Given the description of an element on the screen output the (x, y) to click on. 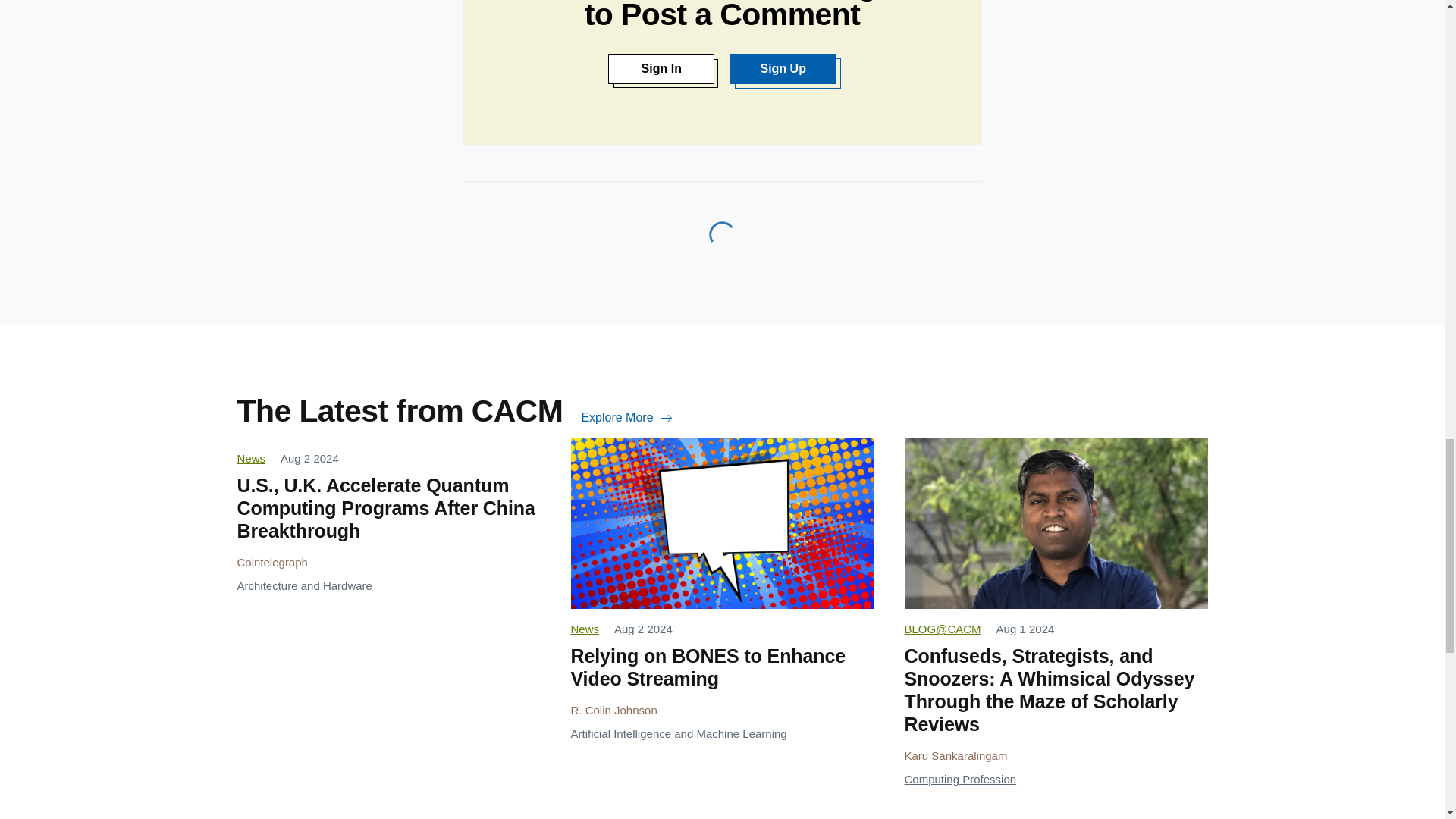
Posts by Cointelegraph (271, 562)
Posts by R. Colin Johnson (613, 709)
